Given the description of an element on the screen output the (x, y) to click on. 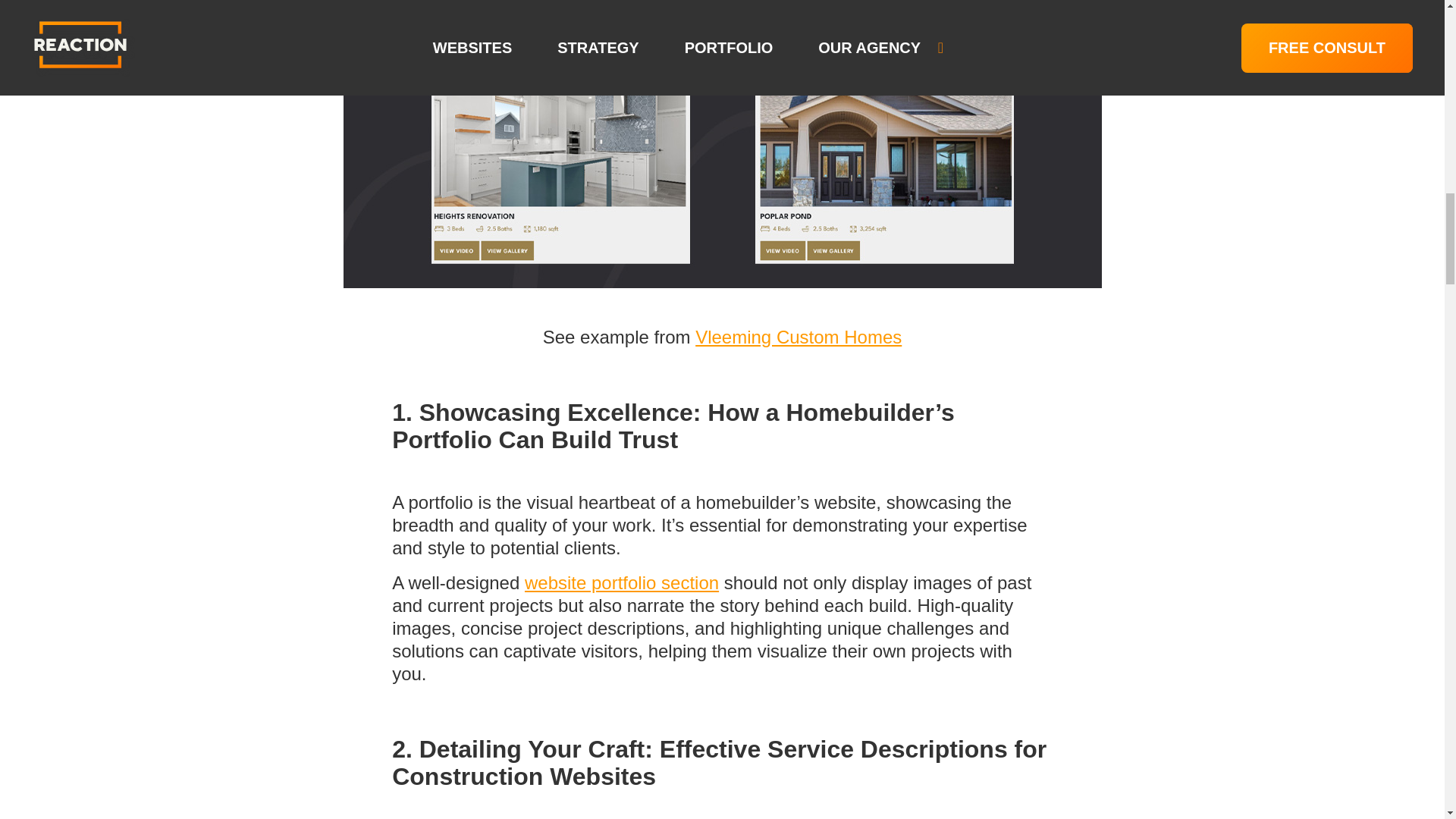
Vleeming Custom Homes (798, 336)
website portfolio section (621, 582)
